Given the description of an element on the screen output the (x, y) to click on. 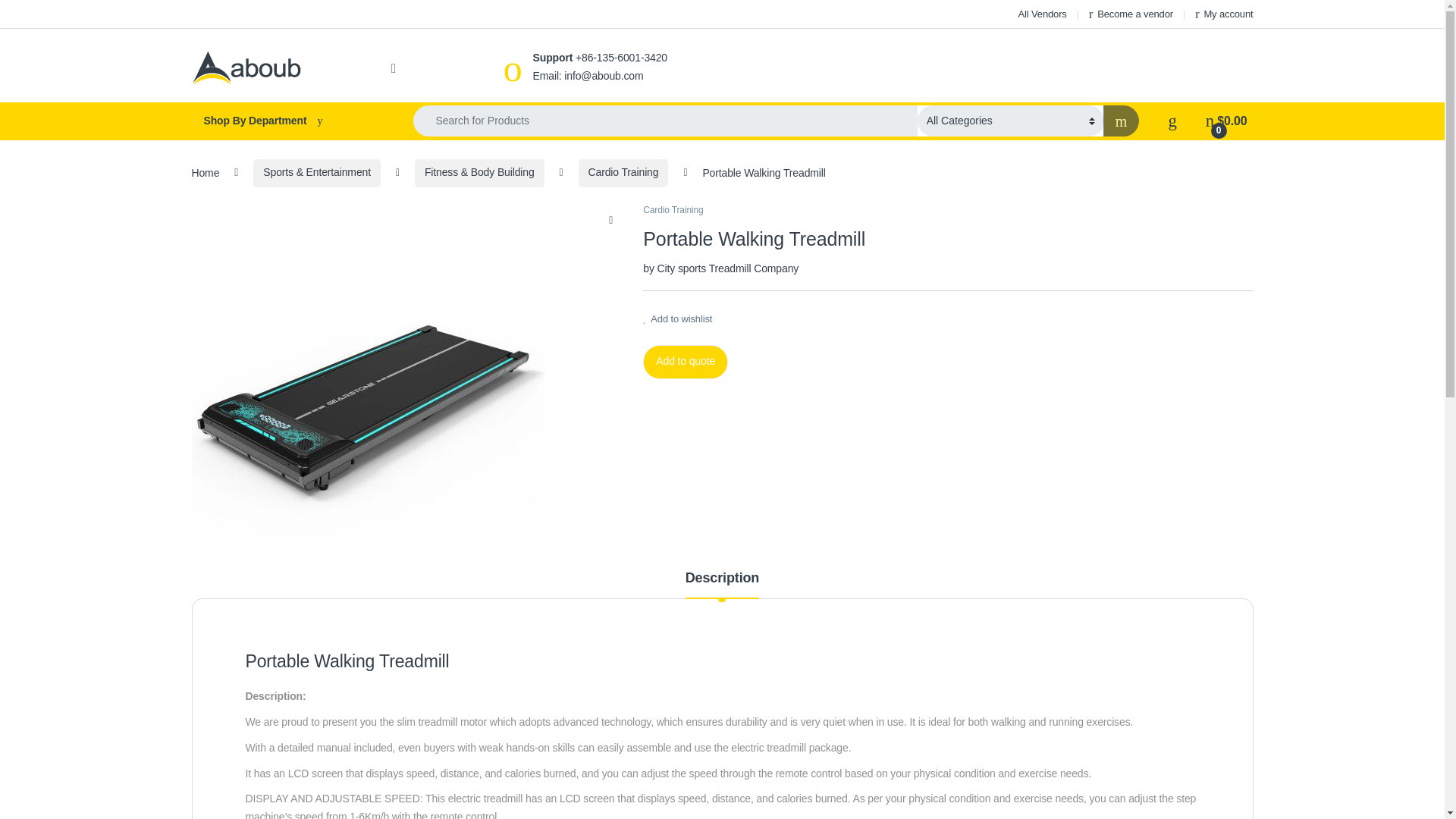
Become a vendor (1131, 13)
My account (1223, 13)
by City sports Treadmill Company (720, 268)
Cardio Training (623, 172)
Add to quote (685, 361)
Cardio Training (673, 209)
Home (204, 172)
Become a vendor (1131, 13)
All Vendors (1041, 13)
My account (1223, 13)
Description (721, 584)
Add to wishlist (677, 318)
Shop By Department (287, 121)
All Vendors (1041, 13)
